Given the description of an element on the screen output the (x, y) to click on. 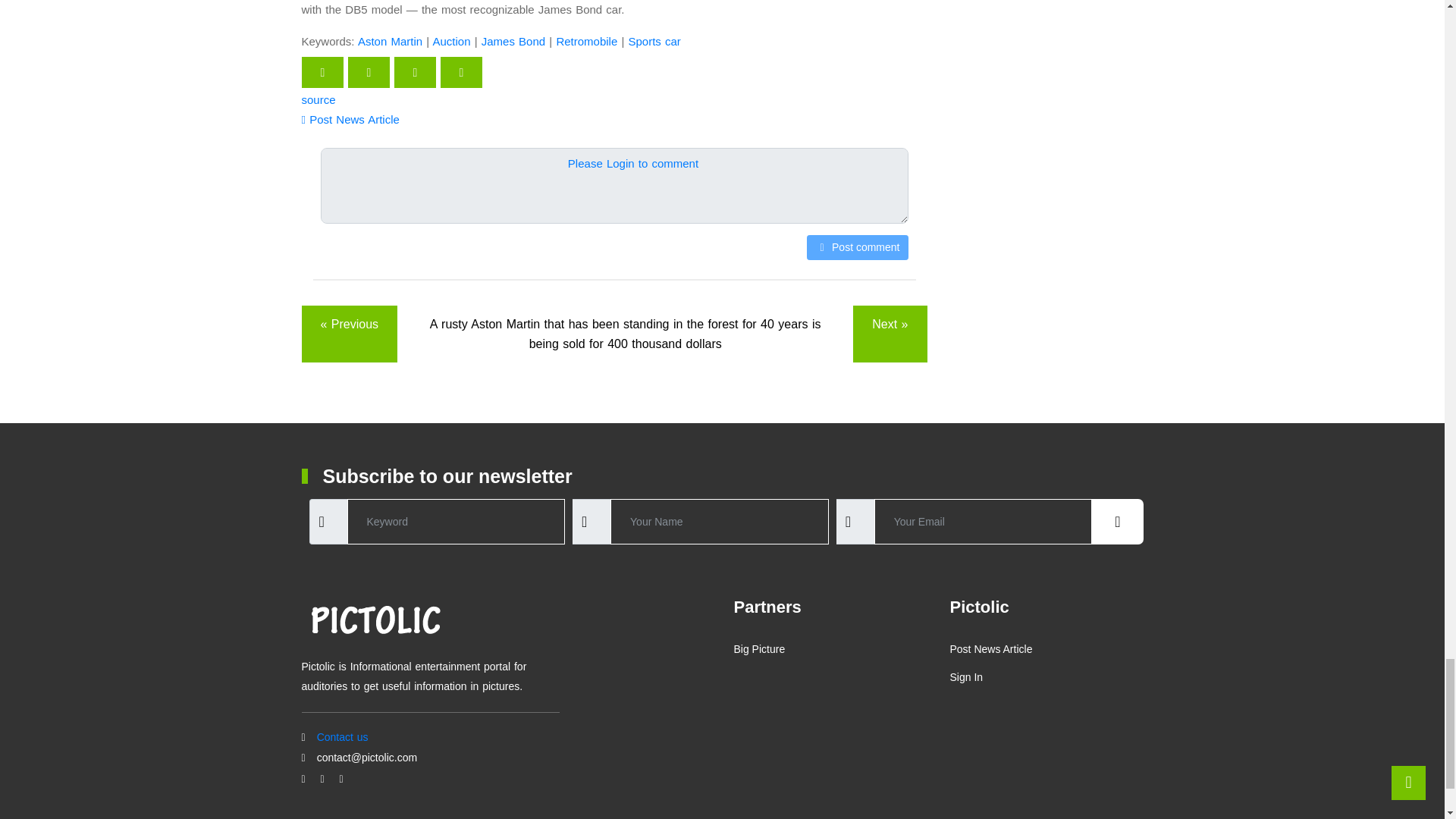
Sports car (653, 41)
source (318, 99)
Auction (451, 41)
James Bond (512, 41)
Retromobile (586, 41)
Post comment (856, 247)
Aston Martin (390, 41)
Please Login to comment (632, 163)
Post News Article (349, 119)
